Given the description of an element on the screen output the (x, y) to click on. 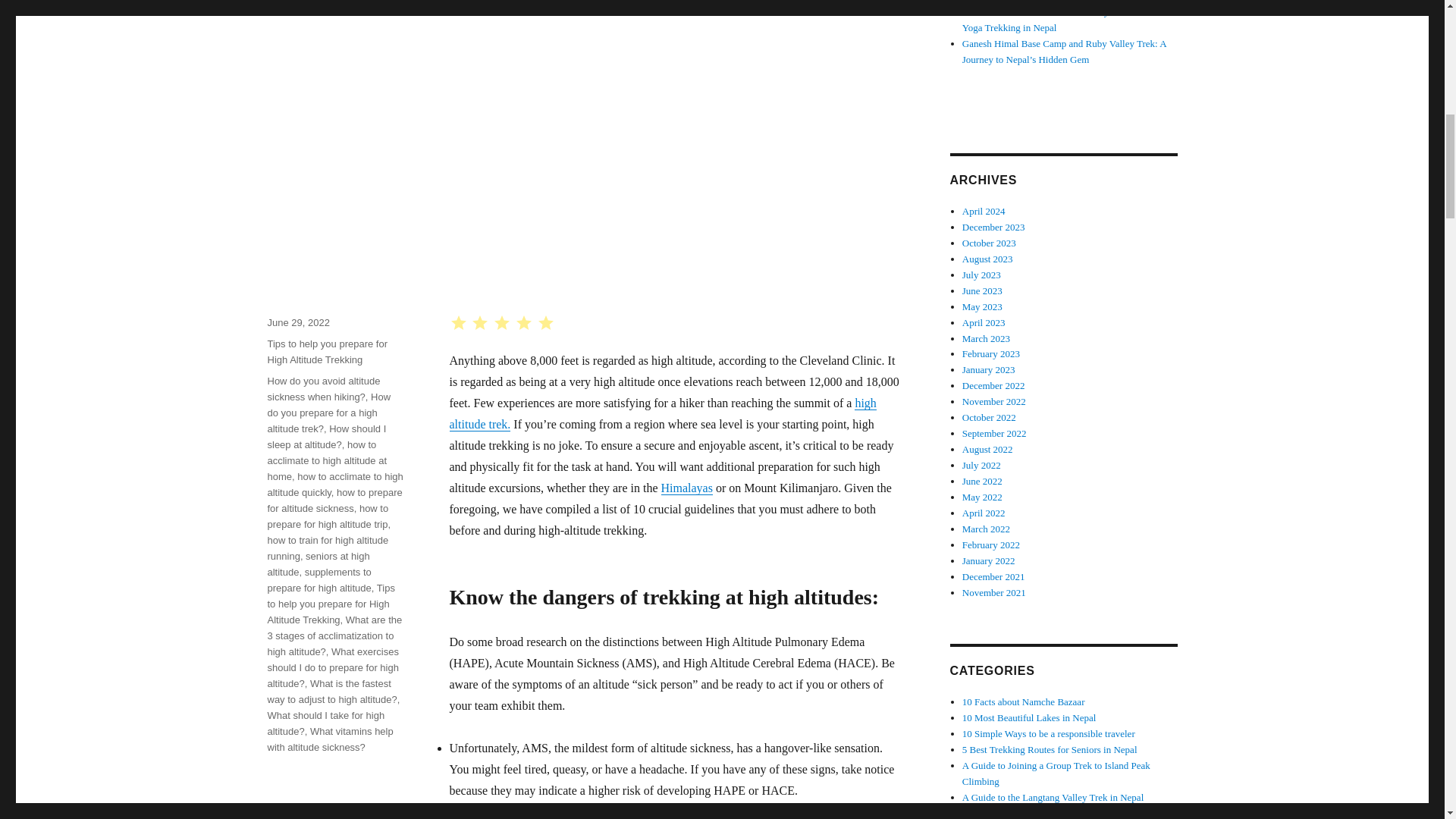
how to acclimate to high altitude at home (326, 460)
how to prepare for high altitude trip (327, 515)
supplements to prepare for high altitude (318, 579)
seniors at high altitude (317, 564)
How do you prepare for a high altitude trek? (328, 412)
June 29, 2022 (297, 322)
how to acclimate to high altitude quickly (334, 483)
What are the 3 stages of acclimatization to high altitude? (333, 635)
What exercises should I do to prepare for high altitude? (331, 667)
What should I take for high altitude? (325, 723)
